Given the description of an element on the screen output the (x, y) to click on. 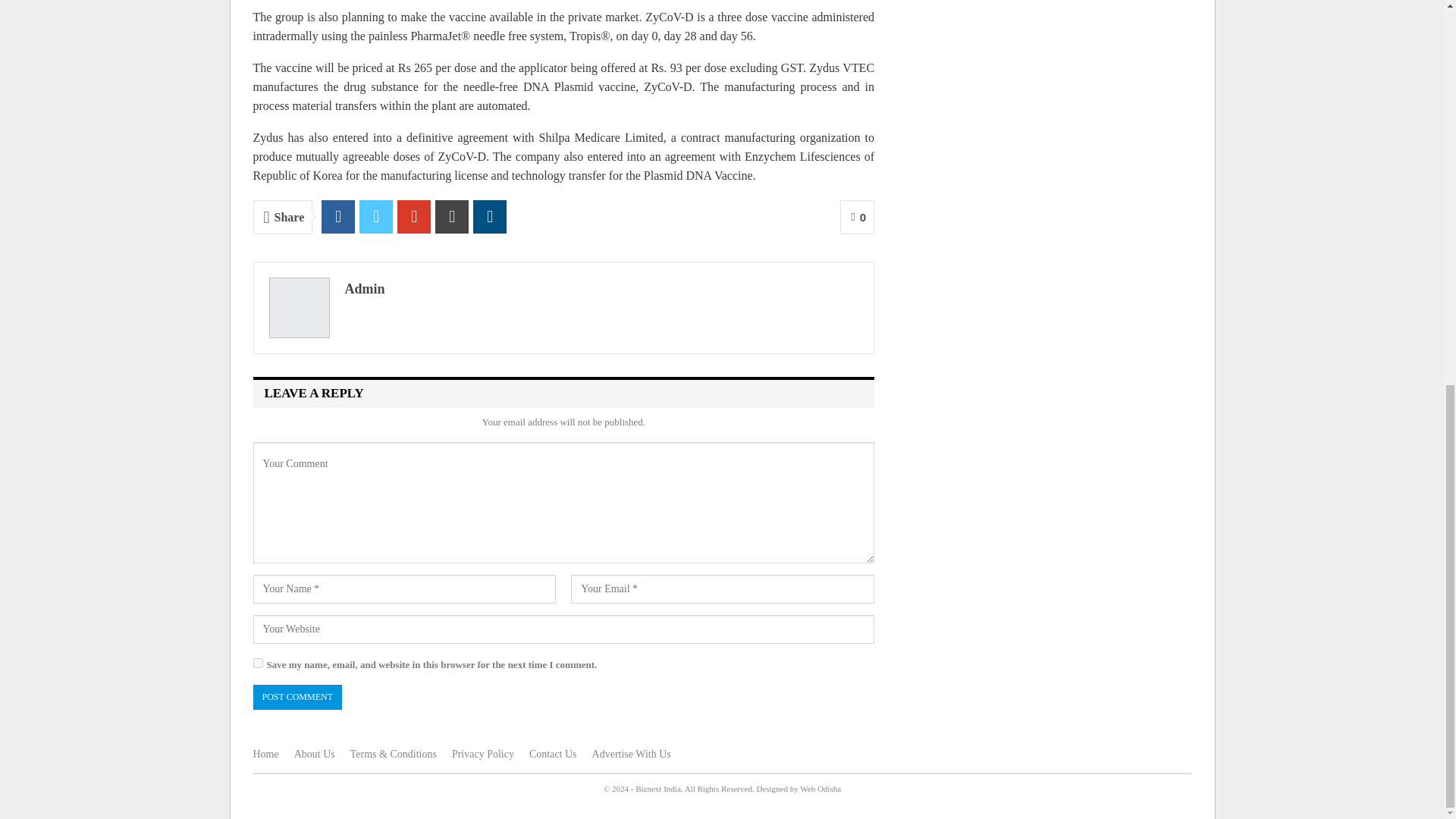
yes (258, 663)
Web Odisha (820, 788)
Post Comment (297, 697)
